Given the description of an element on the screen output the (x, y) to click on. 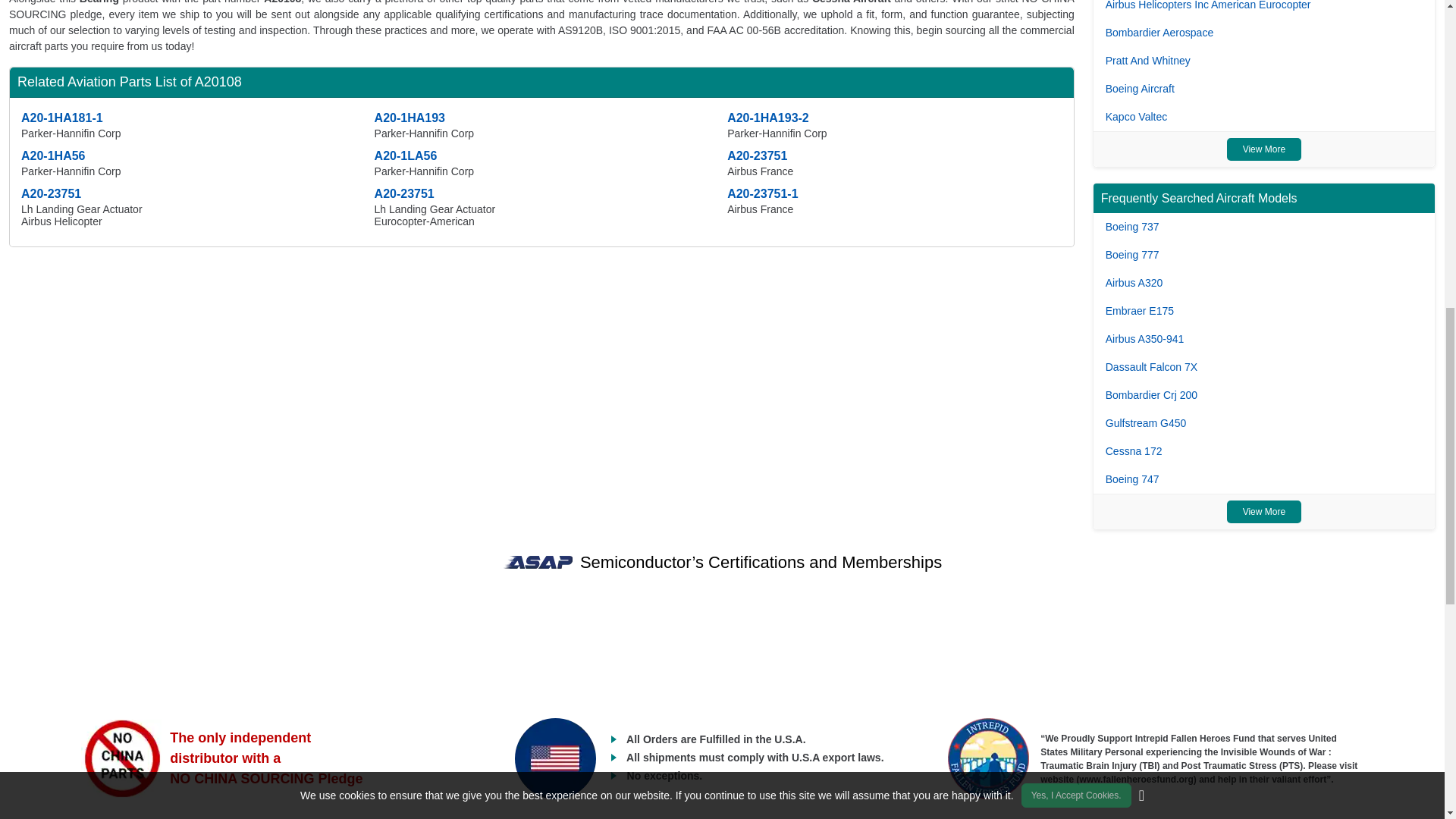
A20-1HA56 (52, 155)
A20-1HA193-2 (767, 117)
A20-1HA193 (409, 117)
A20-1HA181-1 (62, 117)
A20-23751 (756, 155)
A20-1LA56 (406, 155)
